Given the description of an element on the screen output the (x, y) to click on. 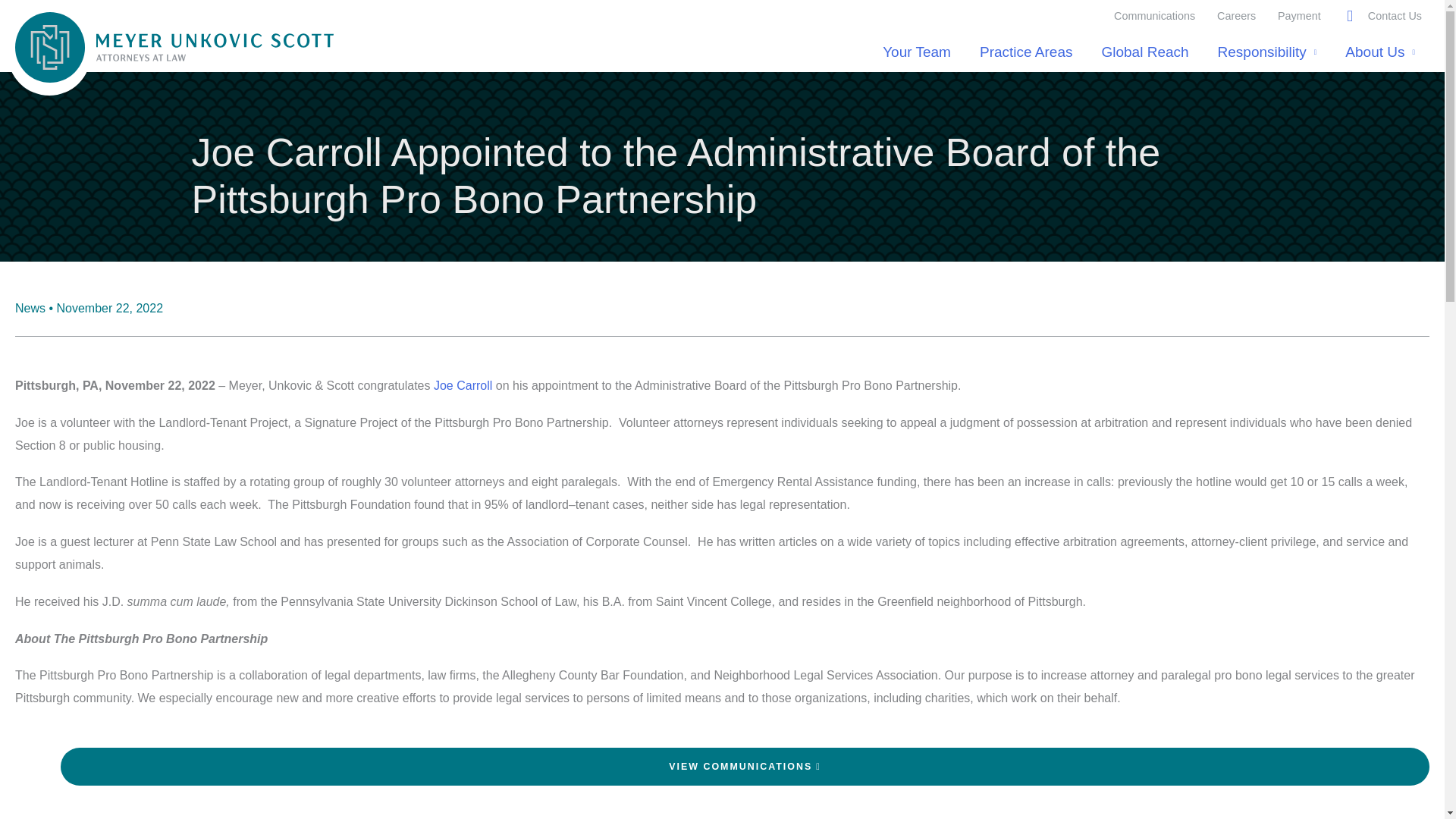
Careers (1236, 15)
Contact Us (1395, 15)
Global Reach (1144, 52)
About Us (1379, 52)
Your Team (916, 52)
Payment (1299, 15)
Practice Areas (1026, 52)
Communications (1155, 15)
Responsibility (1268, 52)
